Given the description of an element on the screen output the (x, y) to click on. 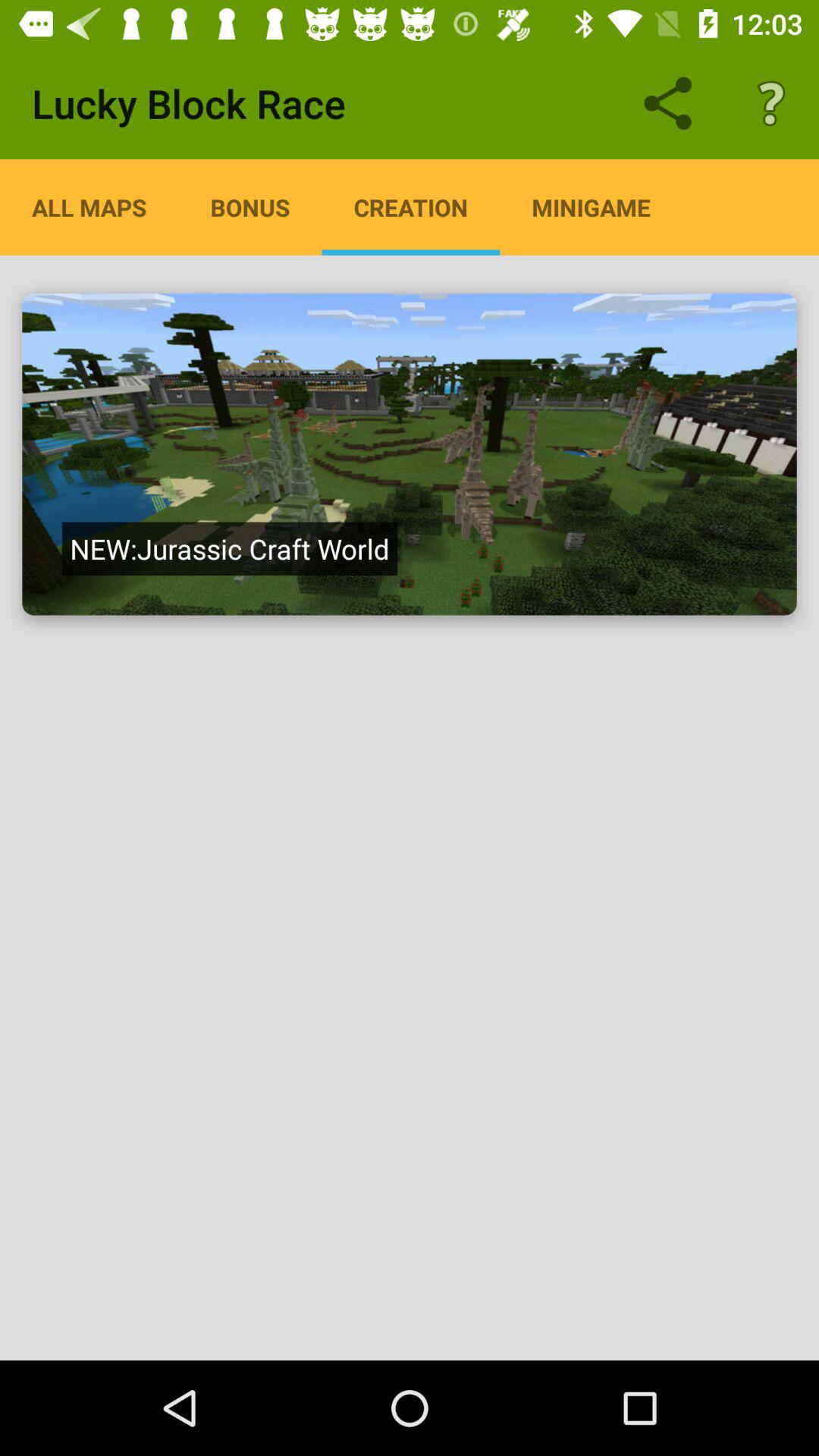
turn off the new jurassic craft (229, 548)
